Given the description of an element on the screen output the (x, y) to click on. 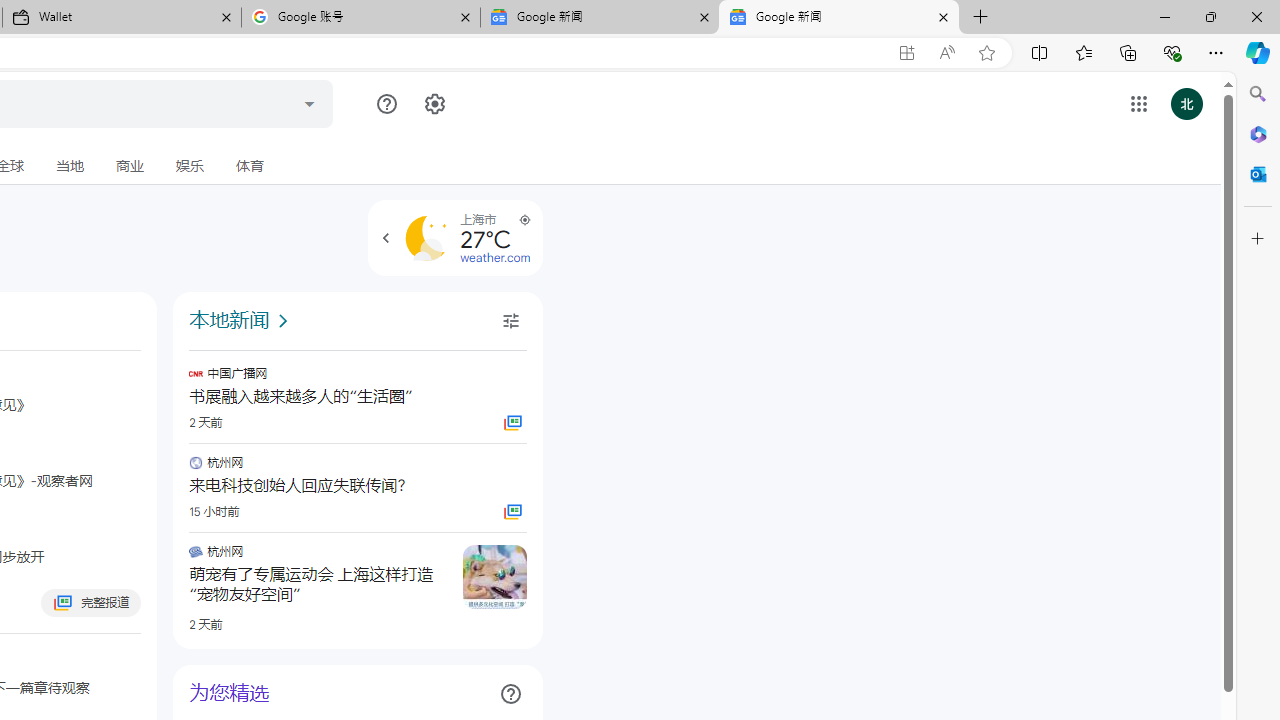
Class: gb_E (1138, 103)
